Given the description of an element on the screen output the (x, y) to click on. 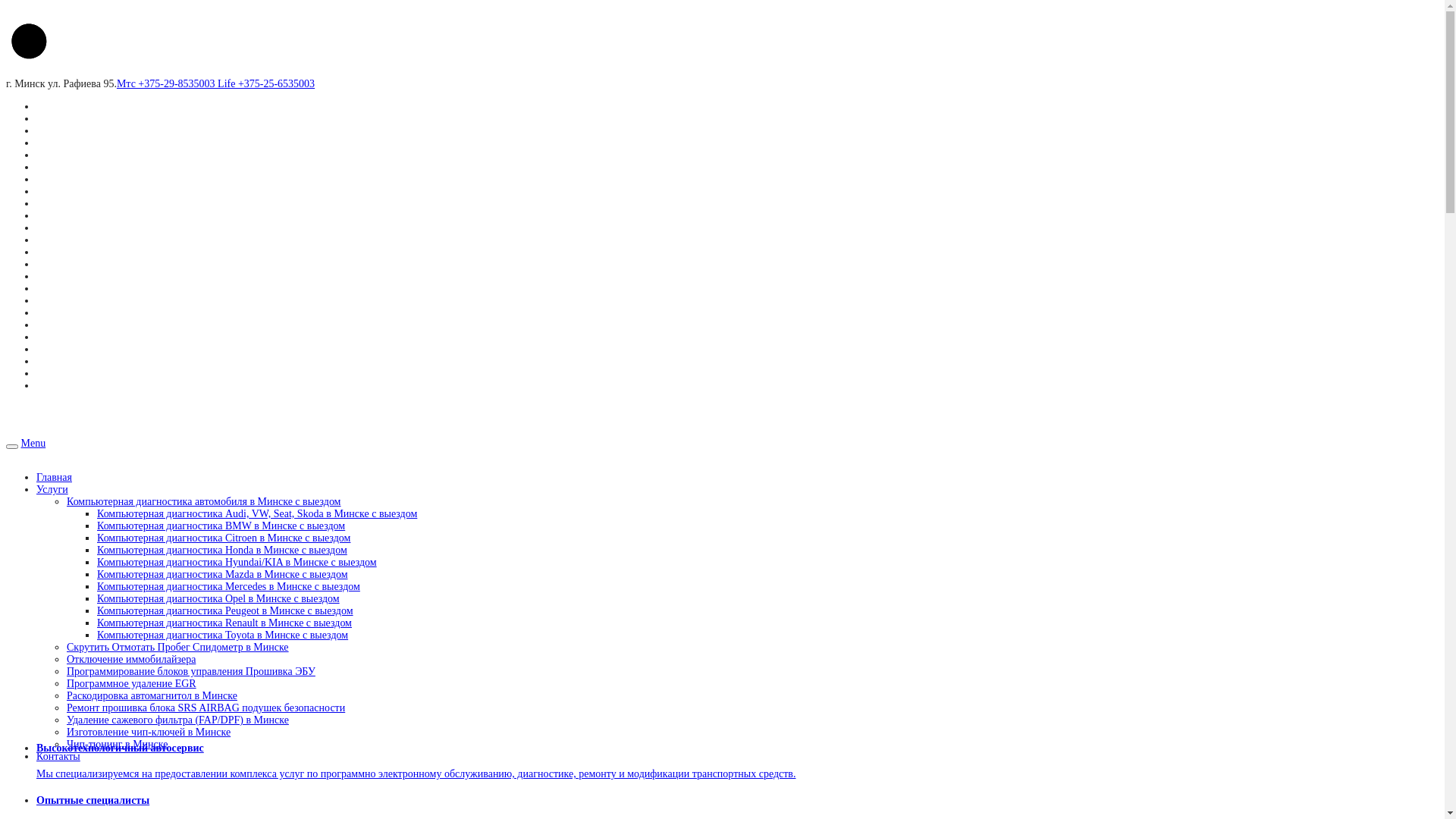
Menu Element type: text (33, 442)
